Given the description of an element on the screen output the (x, y) to click on. 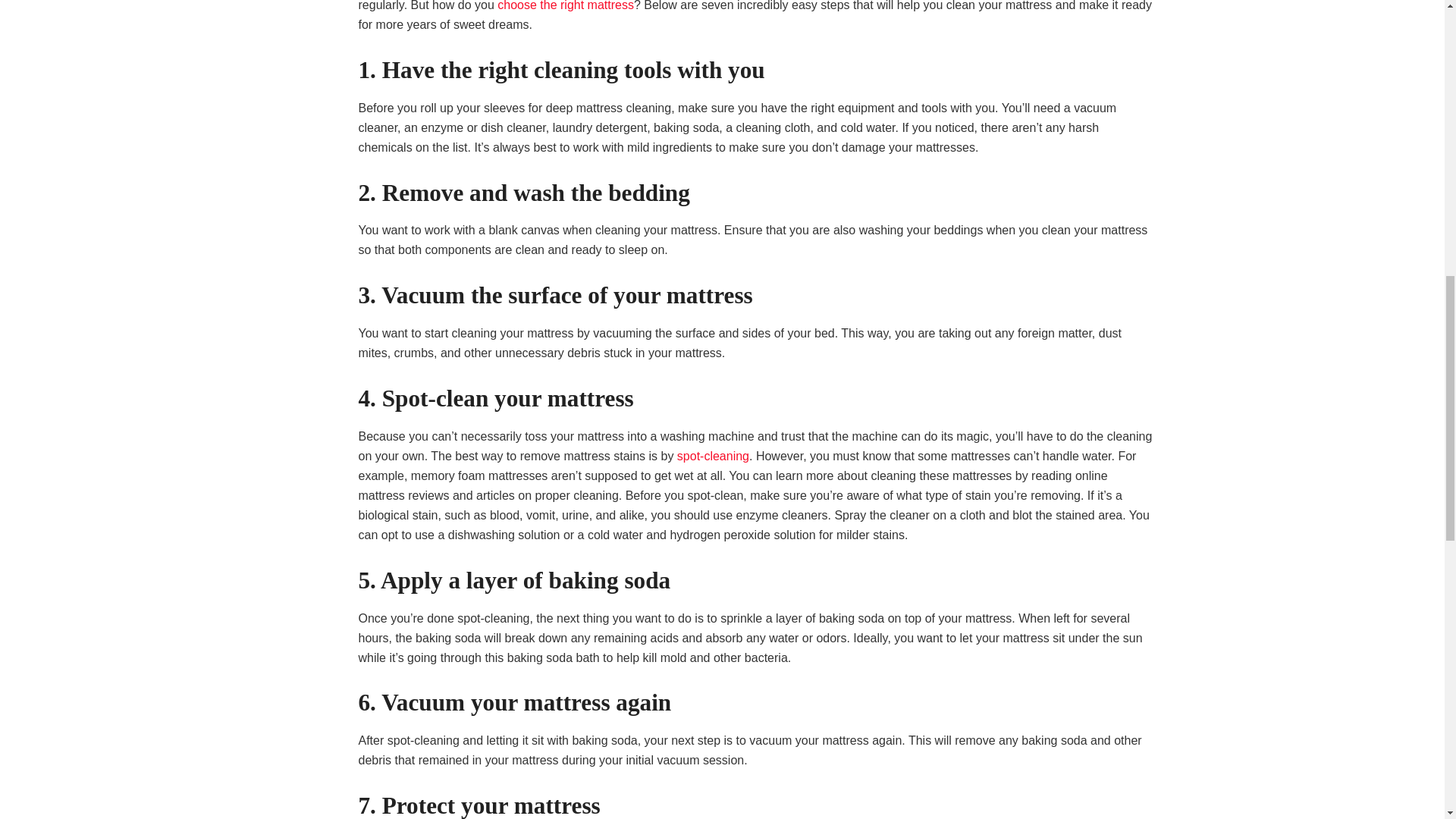
spot-cleaning (713, 455)
choose the right mattress (565, 5)
